Given the description of an element on the screen output the (x, y) to click on. 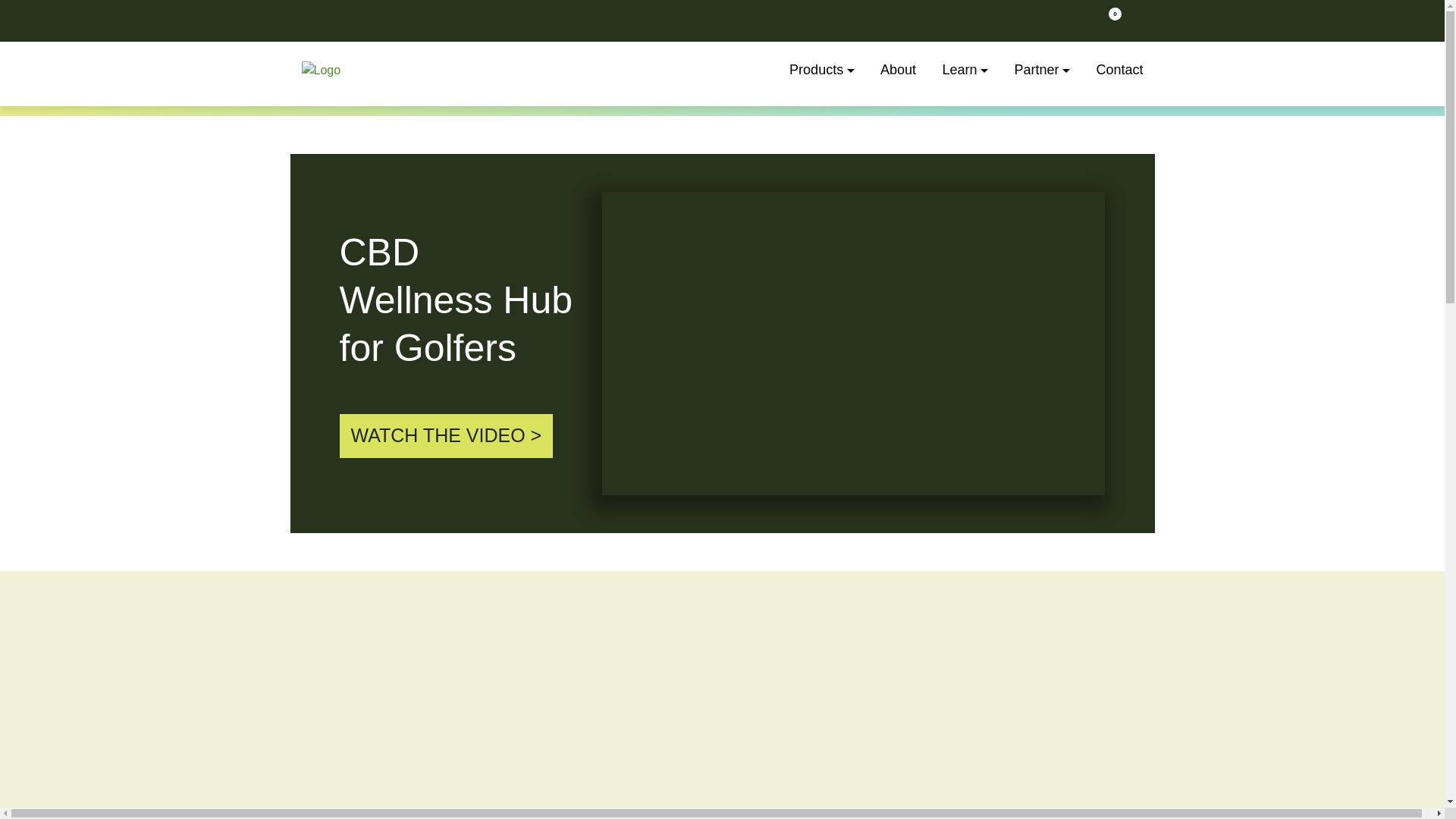
Products (816, 69)
Learn (959, 69)
0 (1108, 25)
About (897, 69)
